Given the description of an element on the screen output the (x, y) to click on. 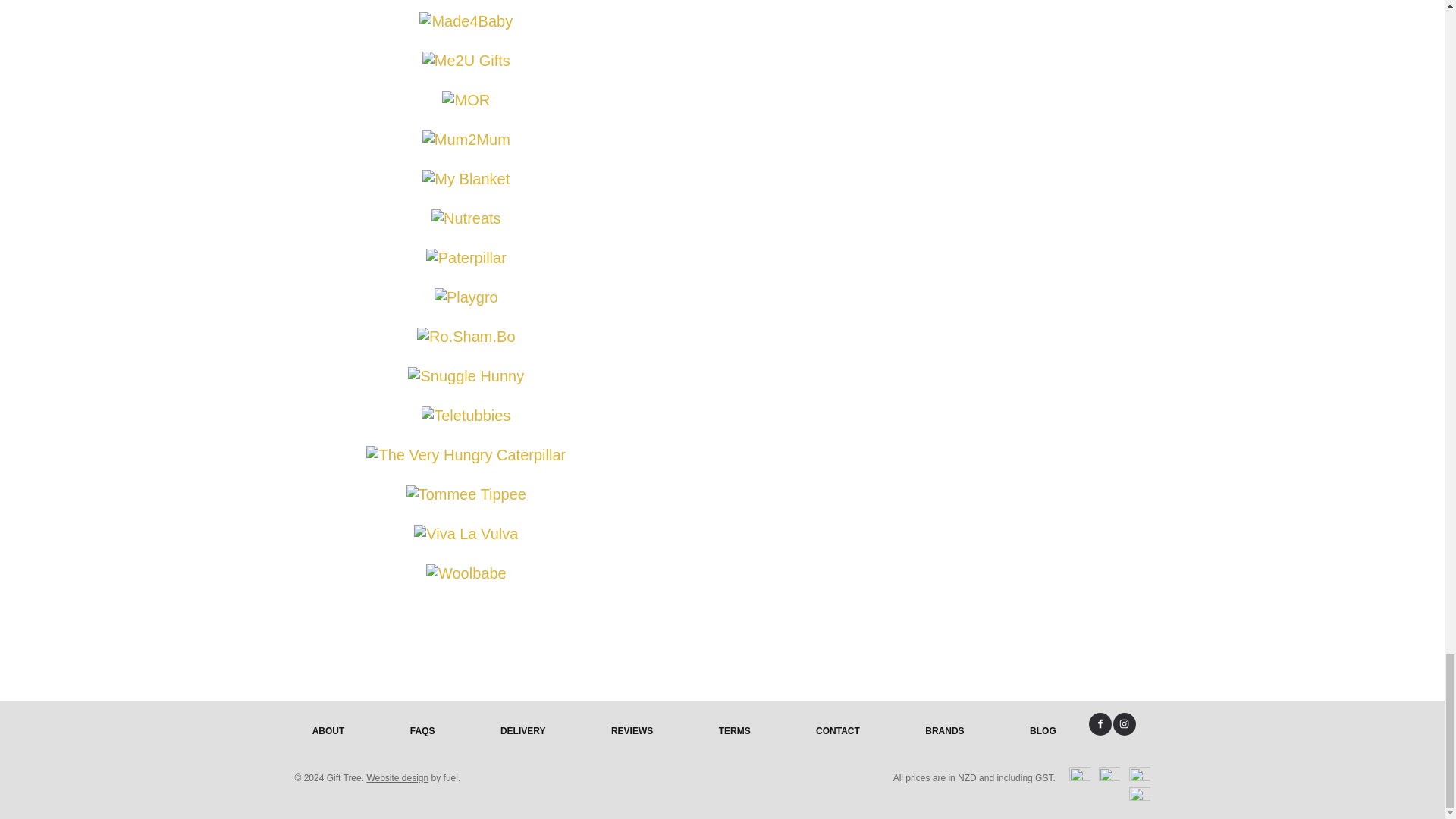
Facebook (1100, 723)
Auckland website design (397, 777)
Instagram (1124, 723)
